Given the description of an element on the screen output the (x, y) to click on. 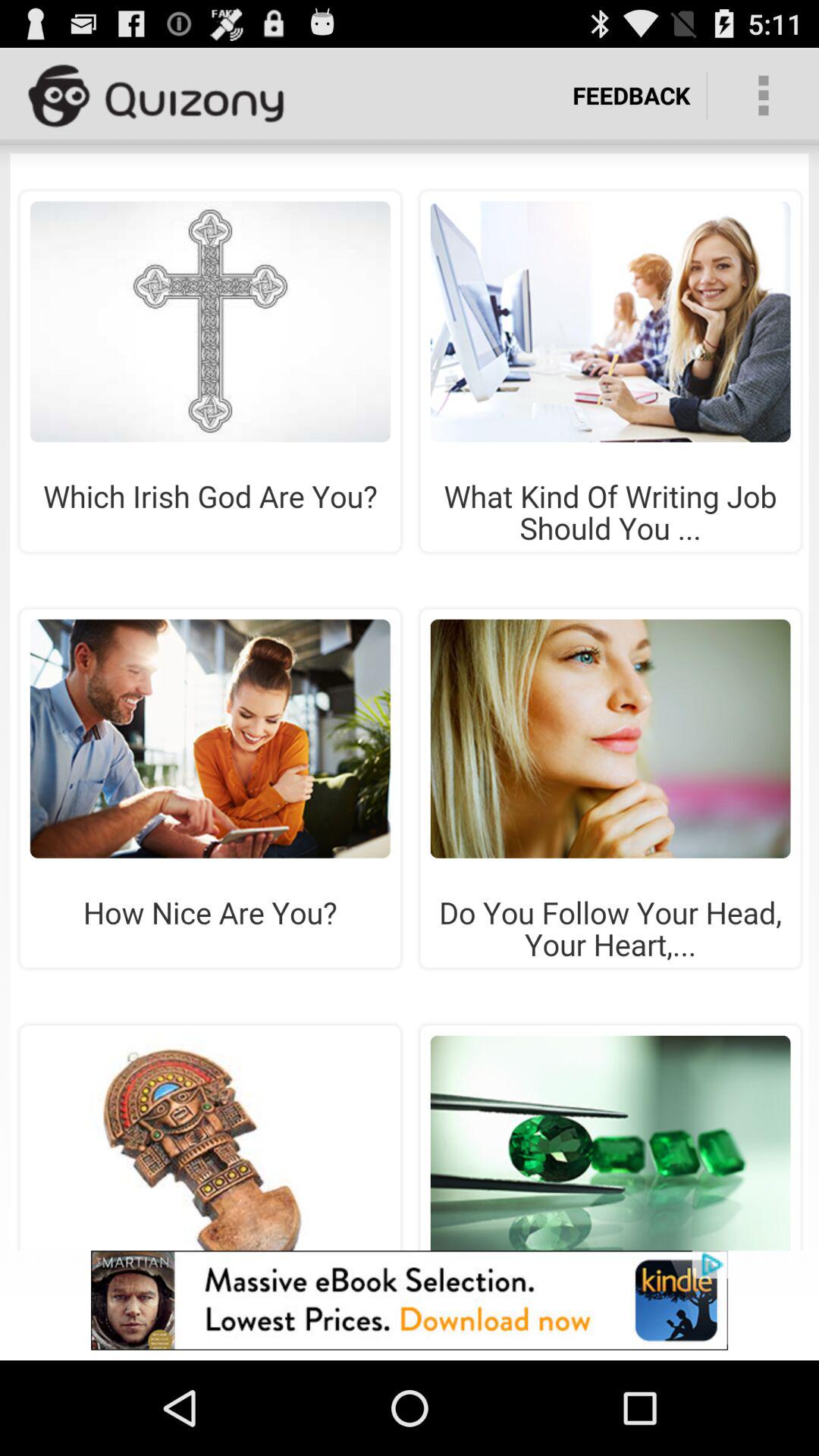
share the article (409, 701)
